Given the description of an element on the screen output the (x, y) to click on. 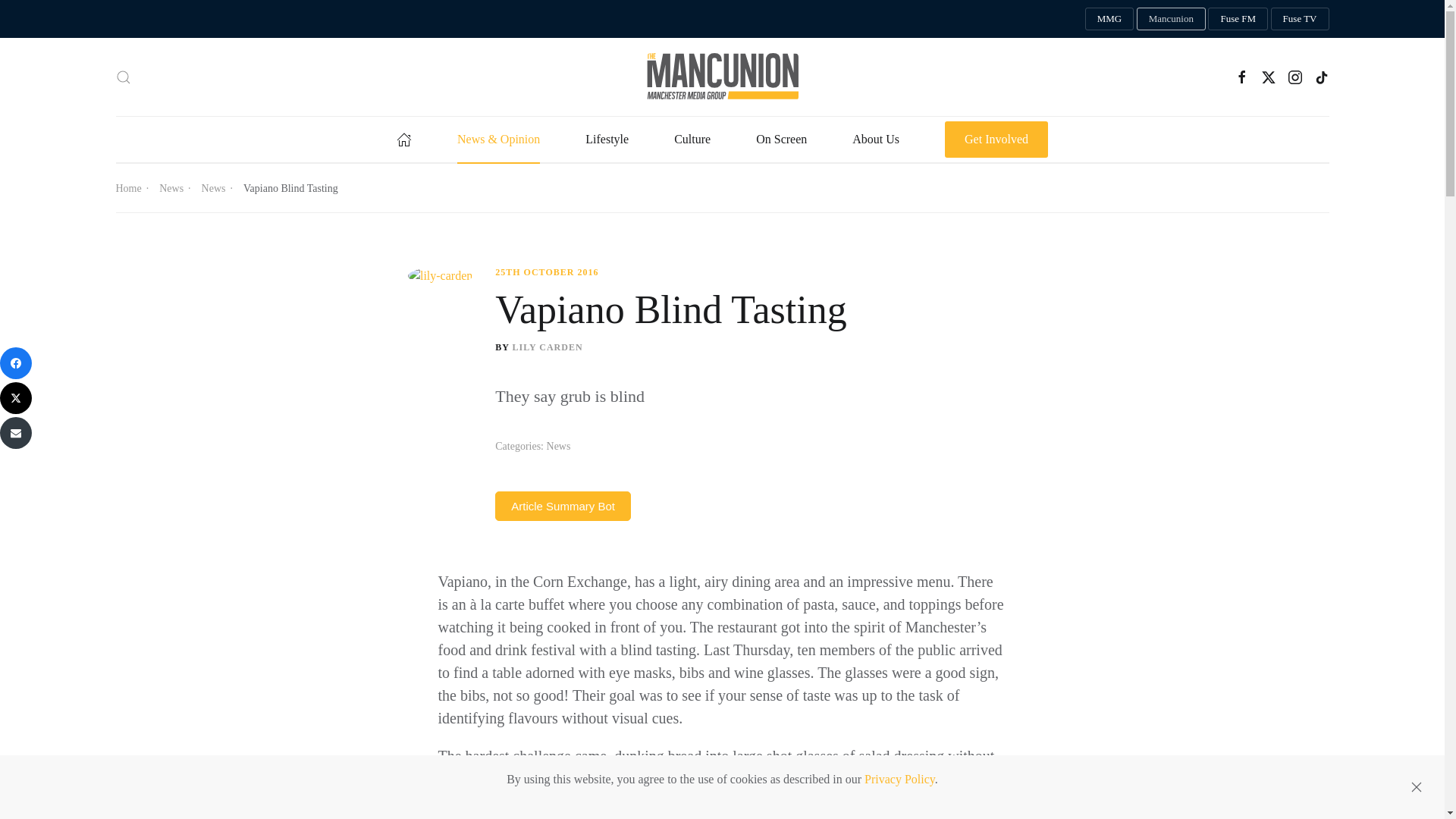
Fuse TV (1300, 18)
Mancunion (1171, 18)
Manchester Fuse TV (1300, 18)
MMG (1109, 18)
Fuse FM (1238, 18)
Manchester Fuse FM (1238, 18)
Manchester Media Group (1109, 18)
Manchester University Mancunion Newspaper (1171, 18)
Posts by Lily Carden (547, 347)
